Given the description of an element on the screen output the (x, y) to click on. 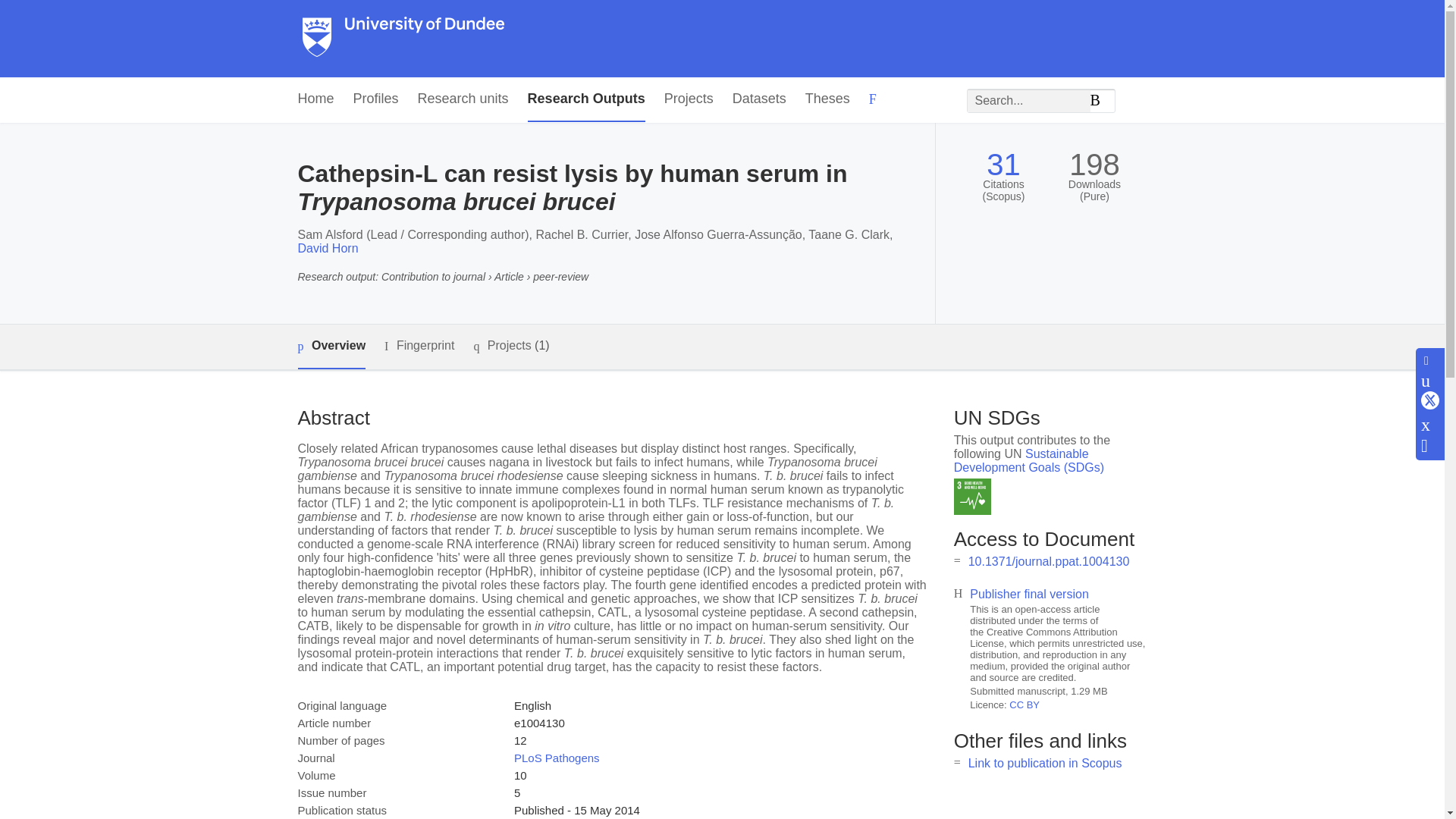
Projects (688, 99)
Link to publication in Scopus (1045, 762)
Fingerprint (419, 345)
Datasets (759, 99)
Theses (827, 99)
PLoS Pathogens (556, 757)
Research Outputs (586, 99)
Profiles (375, 99)
Overview (331, 346)
SDG 3 - Good Health and Well-being (972, 496)
